Given the description of an element on the screen output the (x, y) to click on. 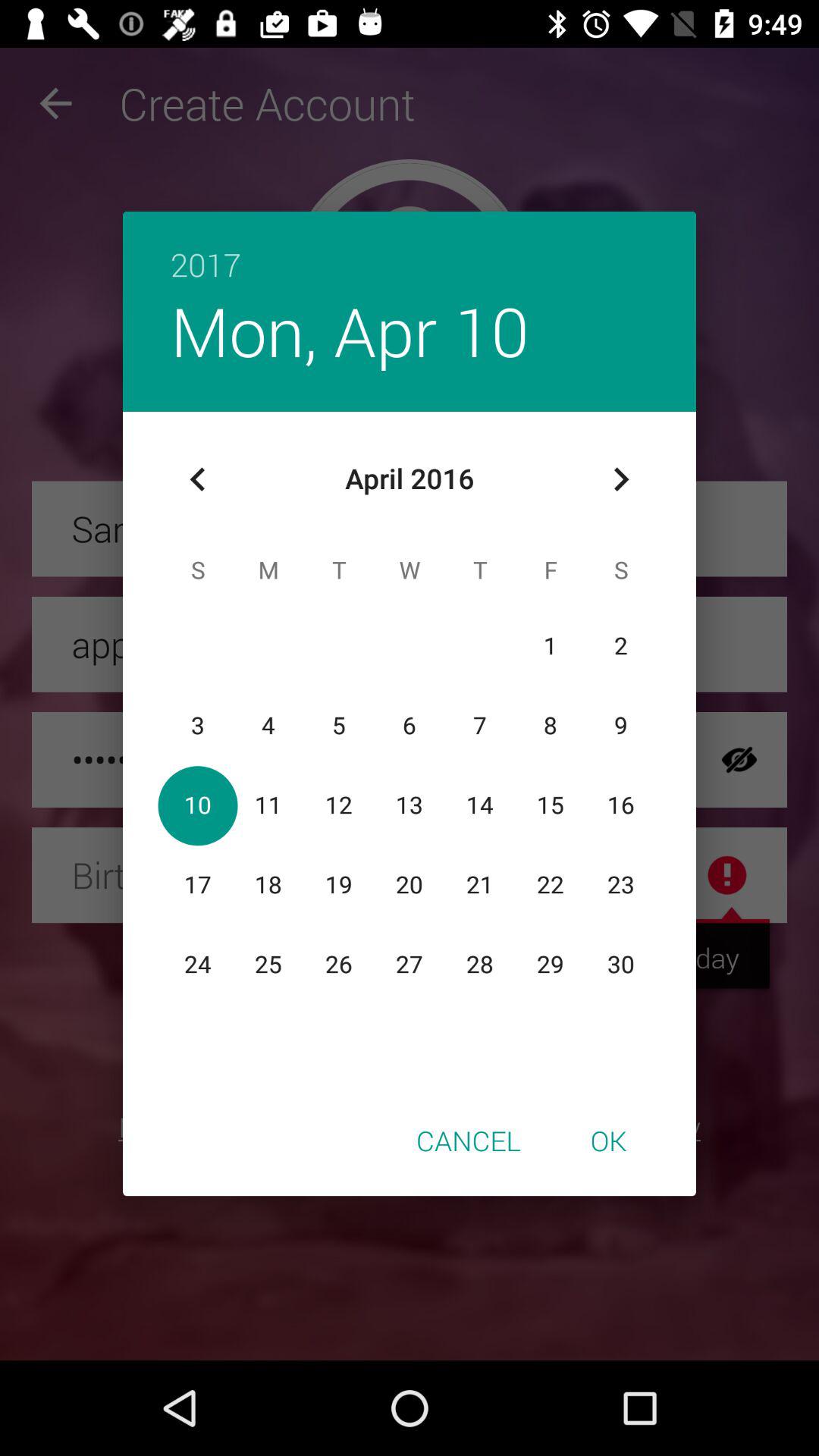
tap icon to the right of the cancel item (608, 1140)
